Given the description of an element on the screen output the (x, y) to click on. 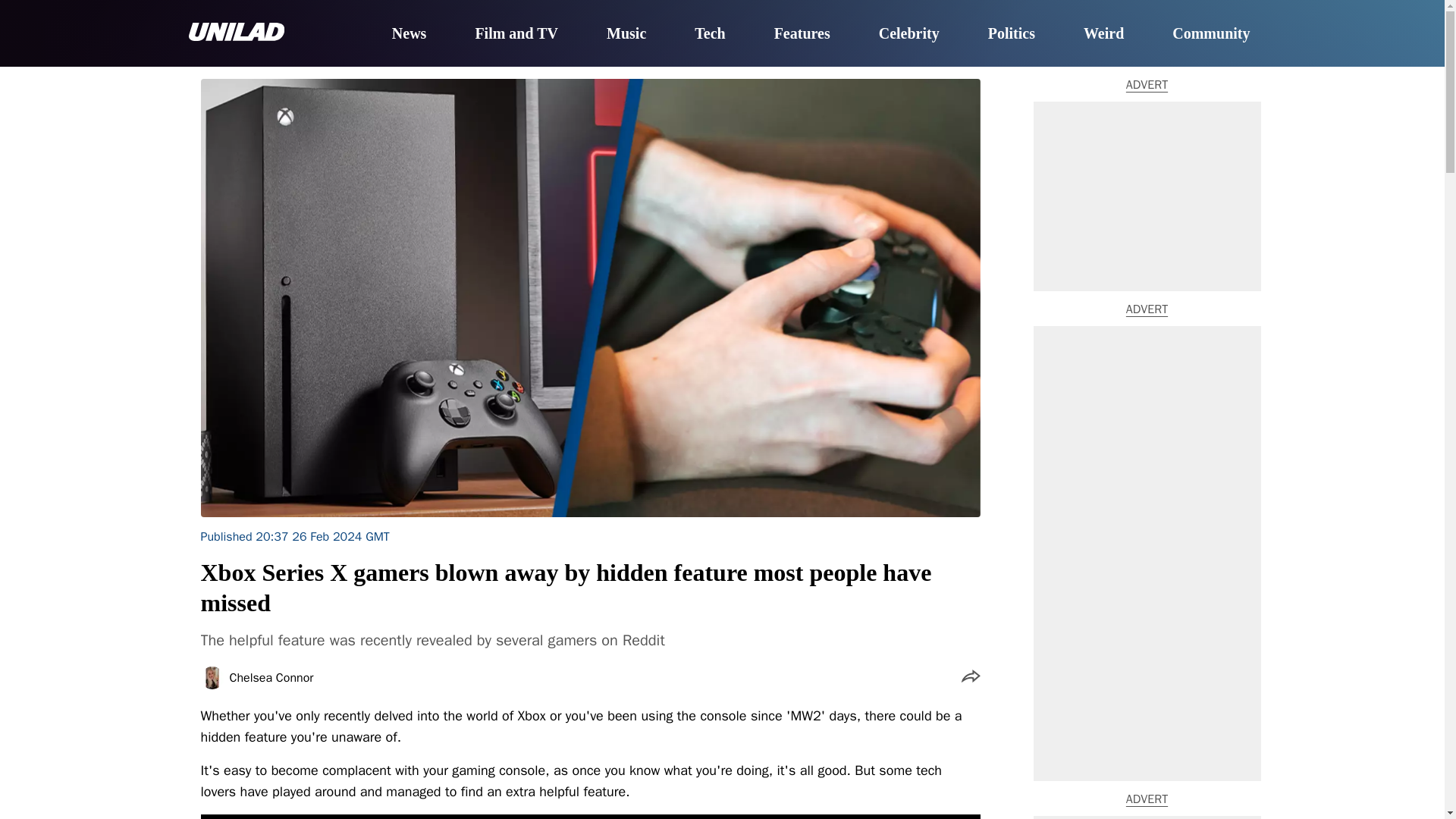
Music (626, 34)
Chelsea Connor (270, 677)
Weird (1103, 34)
News (408, 34)
Celebrity (909, 34)
Tech (709, 34)
Features (801, 34)
Film and TV (515, 34)
Community (1210, 34)
Politics (1011, 34)
